Given the description of an element on the screen output the (x, y) to click on. 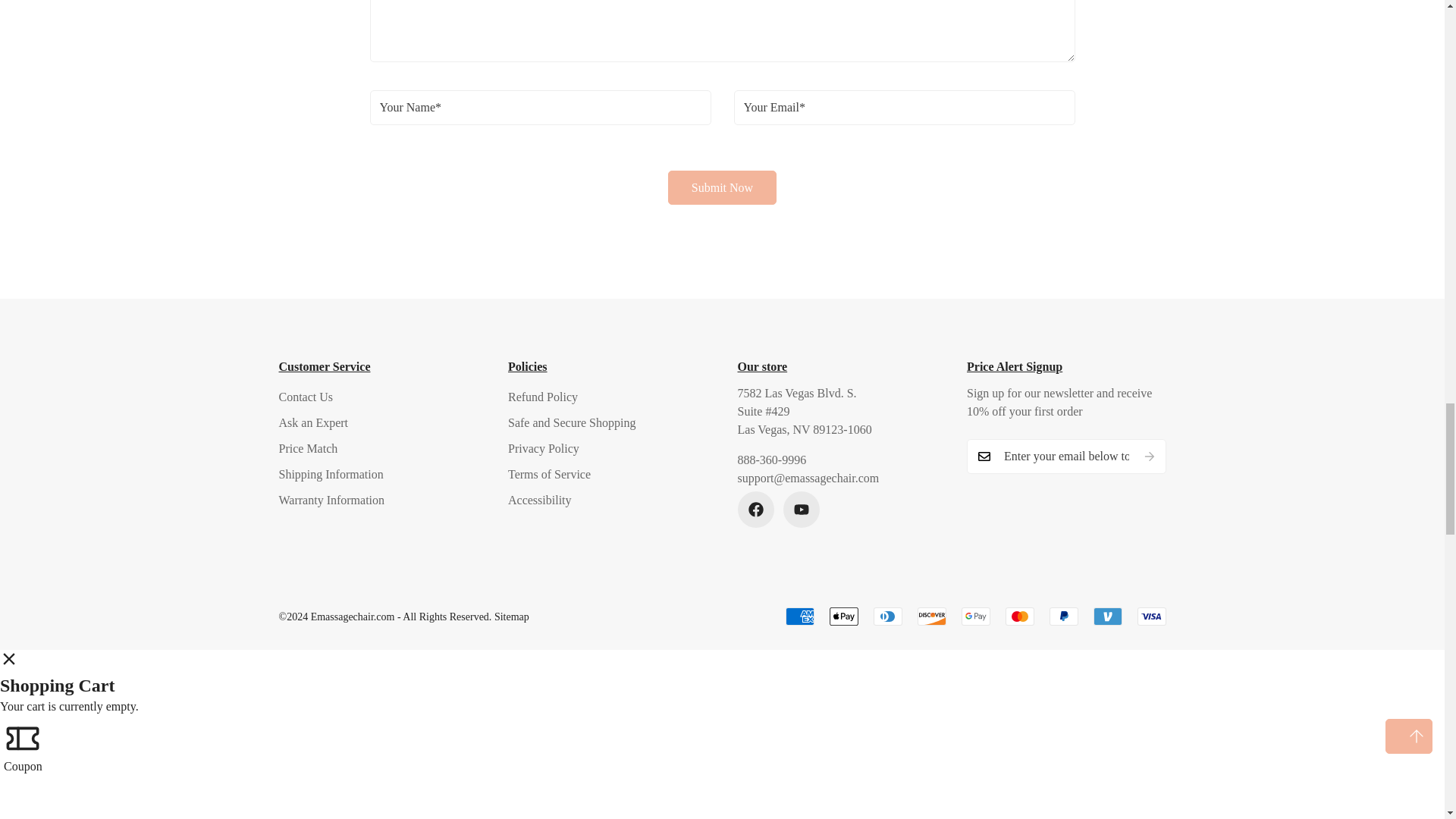
Sitemap (512, 616)
Submit Now (722, 187)
